Given the description of an element on the screen output the (x, y) to click on. 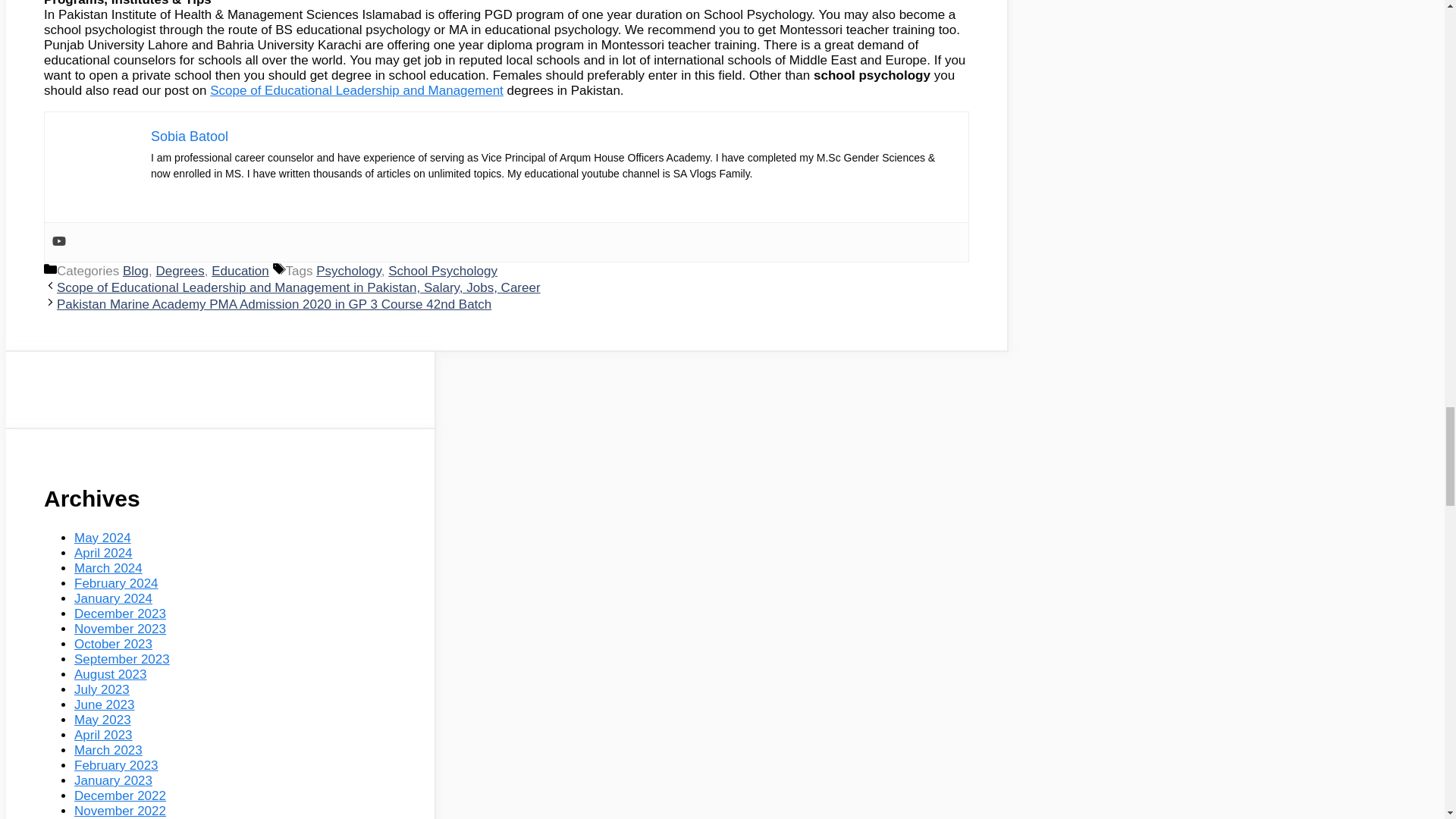
Youtube (58, 242)
Scope of Educational Leadership and Management (356, 90)
